Given the description of an element on the screen output the (x, y) to click on. 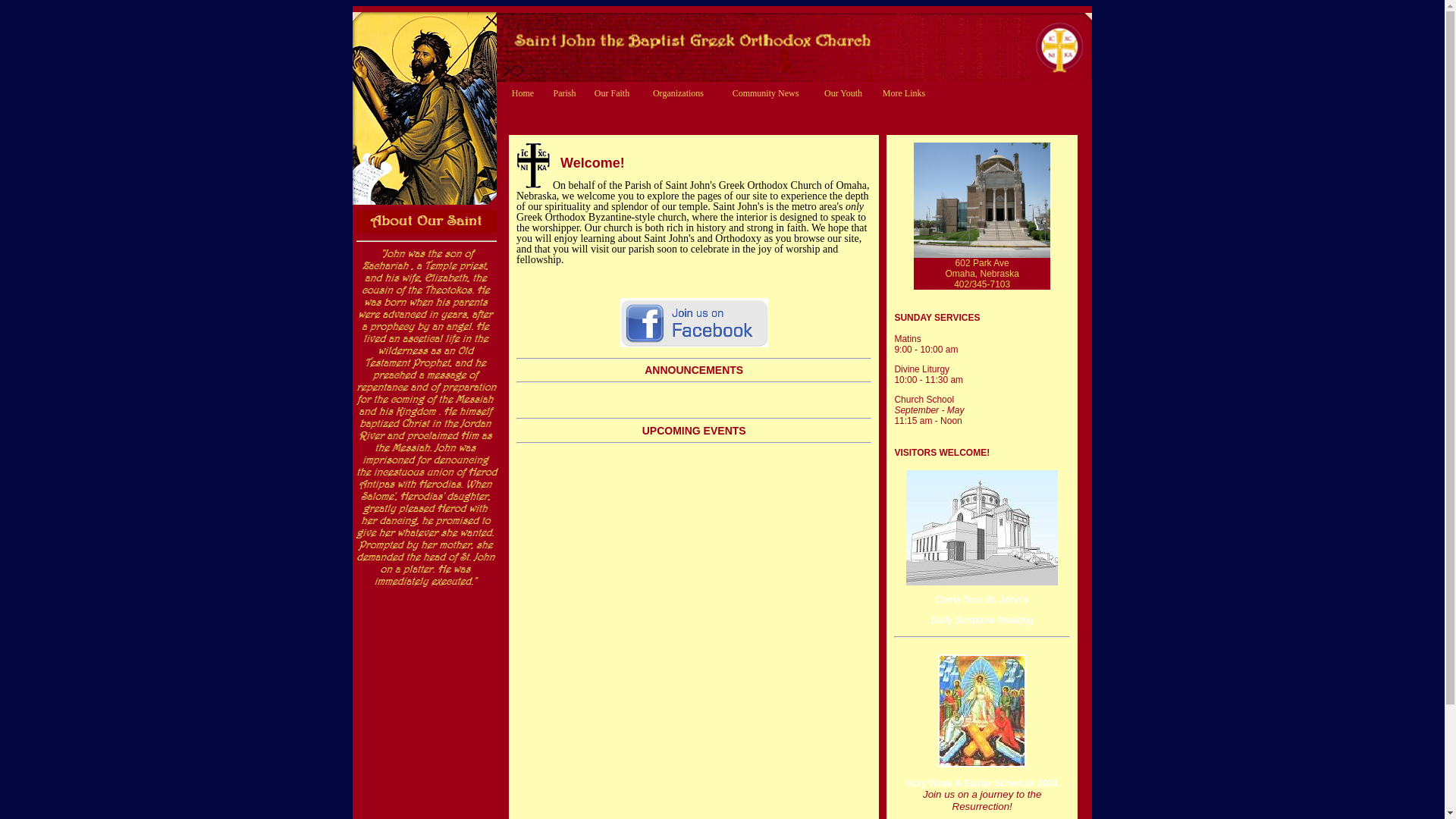
Come Tour St. John's (981, 591)
Daily Scripture Reading (982, 620)
